Given the description of an element on the screen output the (x, y) to click on. 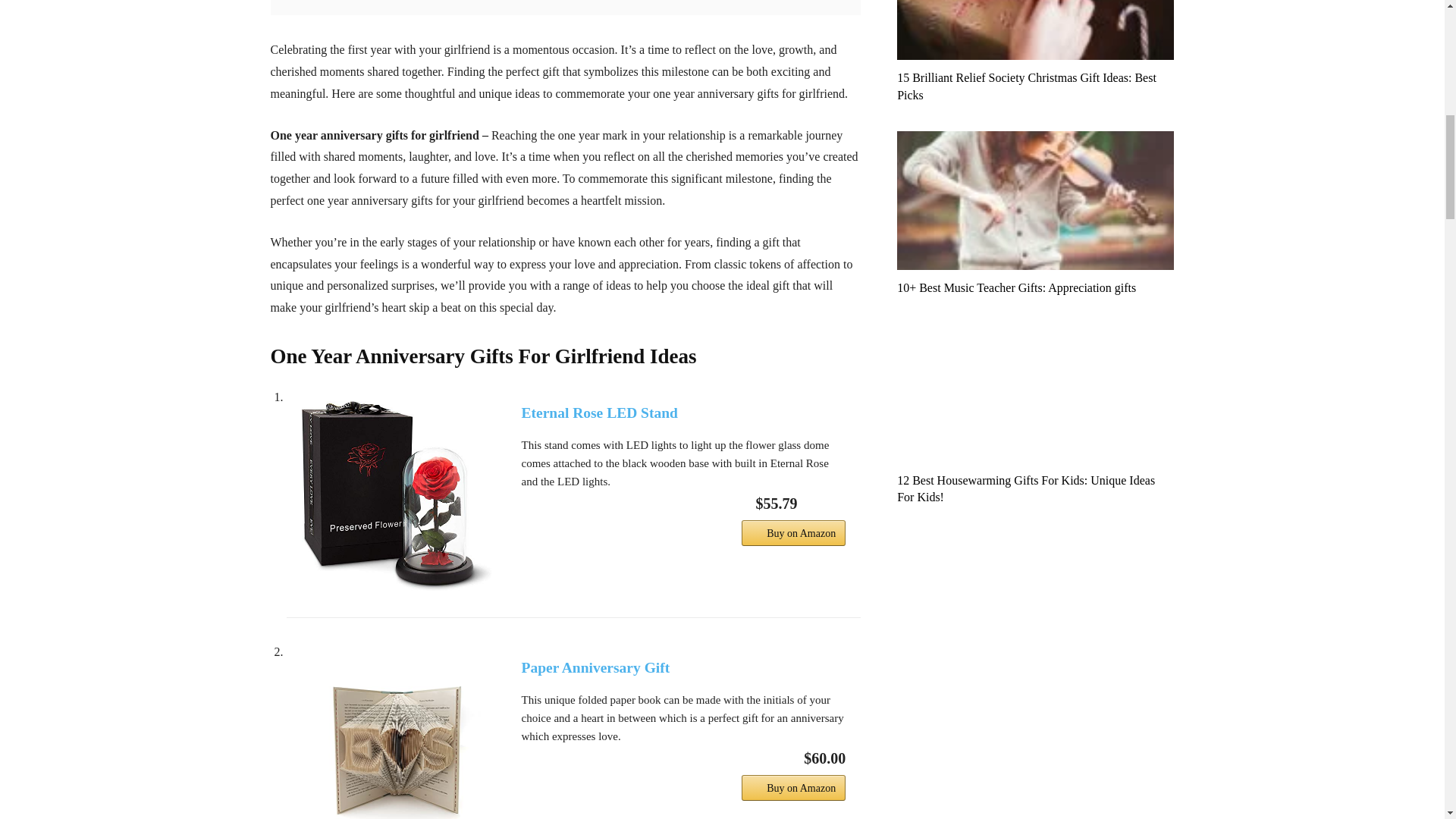
11 Best One Year Anniversary Gifts For Girlfriend: Top Ideas (396, 737)
Buy on Amazon (793, 787)
Buy on Amazon (793, 533)
11 Best One Year Anniversary Gifts For Girlfriend: Top Ideas (396, 495)
Paper Anniversary Gift (683, 667)
Eternal Rose LED Stand (683, 413)
